Given the description of an element on the screen output the (x, y) to click on. 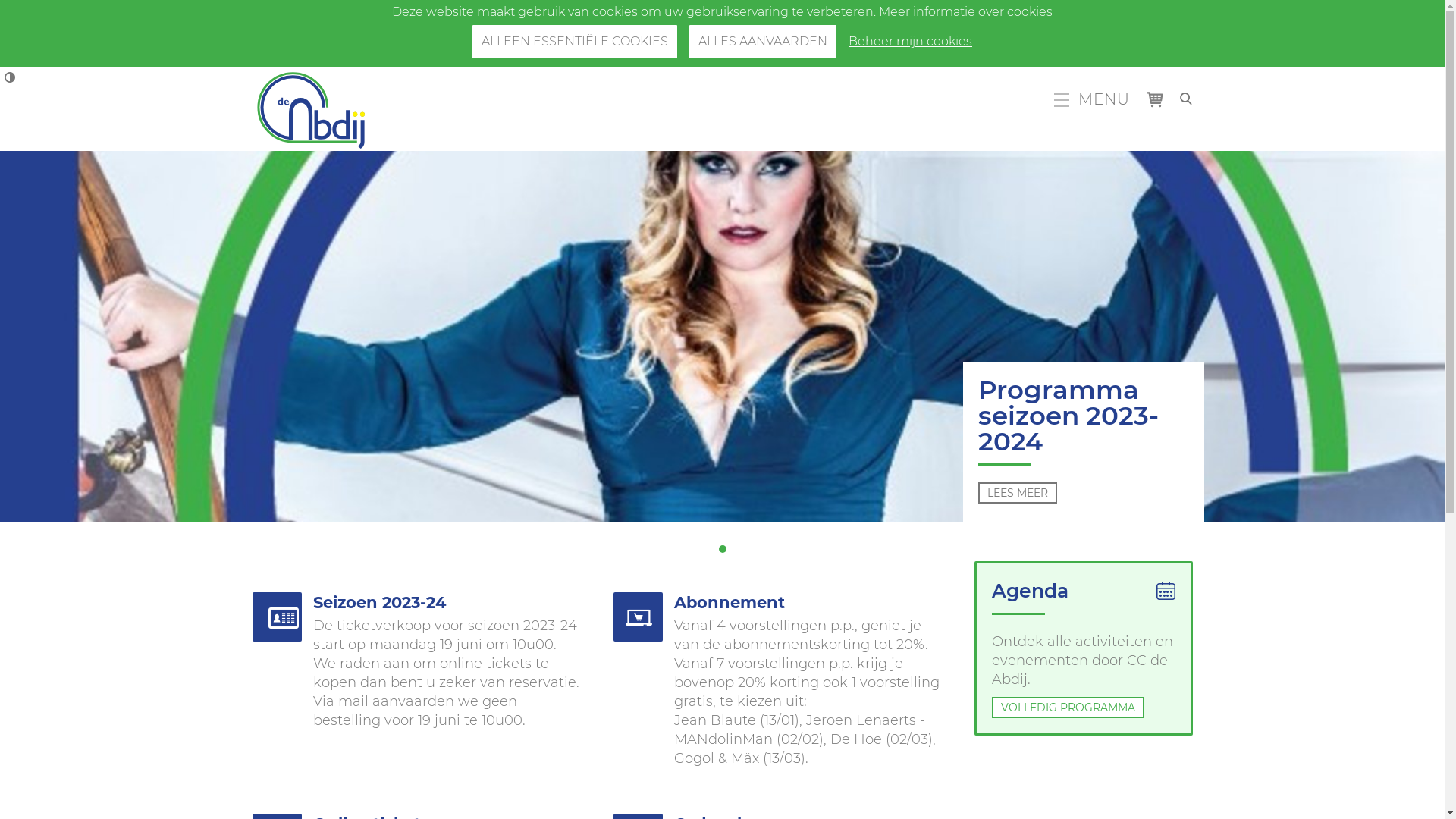
1 Element type: text (722, 548)
Beheer mijn cookies Element type: text (909, 40)
Programma seizoen 2023-2024
LEES MEER Element type: text (1083, 441)
Winkelmandje Element type: text (1157, 102)
ZOEKEN Element type: text (1186, 97)
Meer informatie over cookies Element type: text (965, 11)
Cultuurcentrum De Abdij Geraardsbergen Element type: text (315, 108)
ALLES AANVAARDEN Element type: text (762, 41)
VOLLEDIG PROGRAMMA Element type: text (1067, 706)
MENU Element type: text (1091, 99)
